Given the description of an element on the screen output the (x, y) to click on. 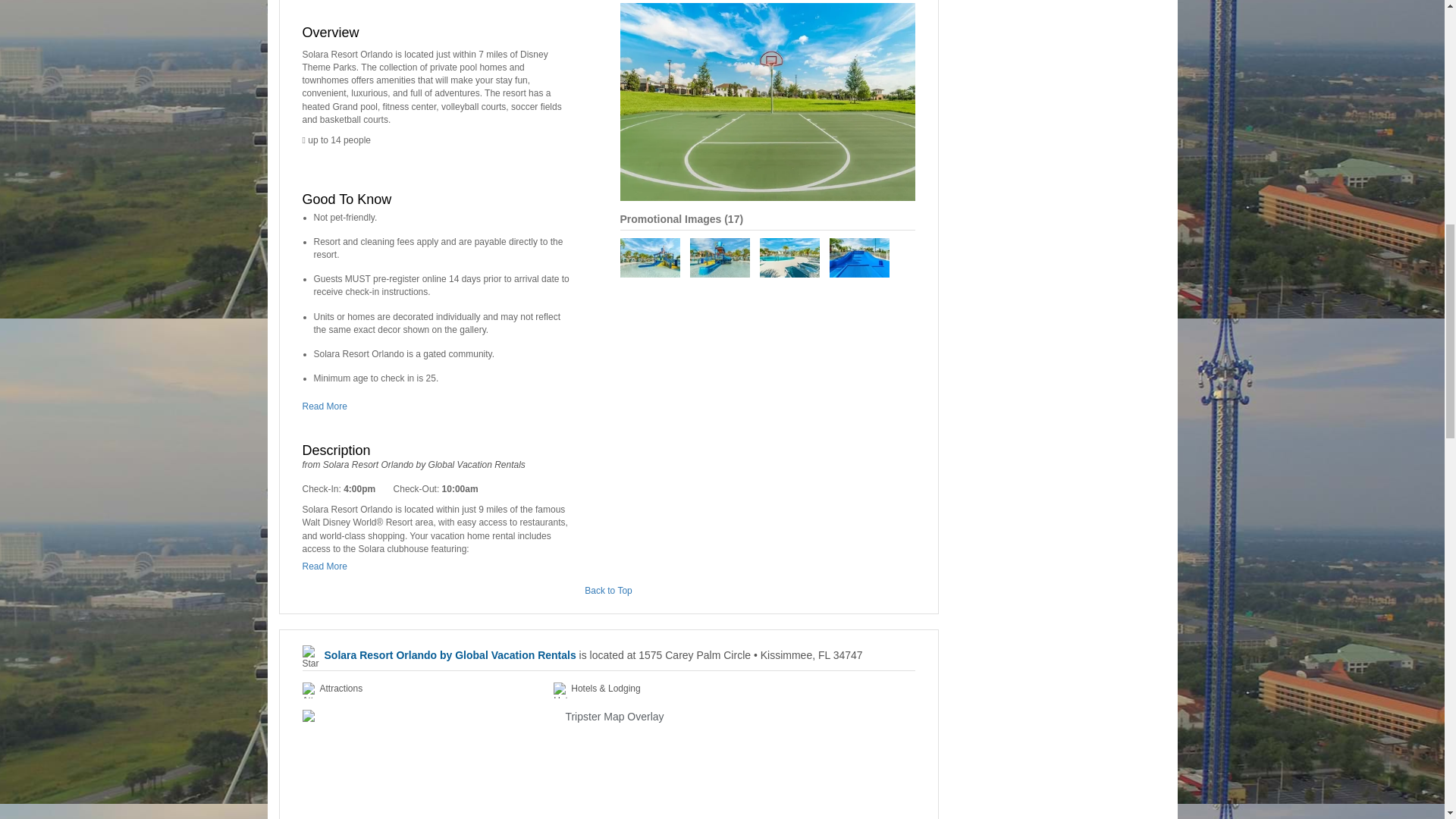
17 (733, 218)
Read More (328, 406)
Read More (328, 566)
